Given the description of an element on the screen output the (x, y) to click on. 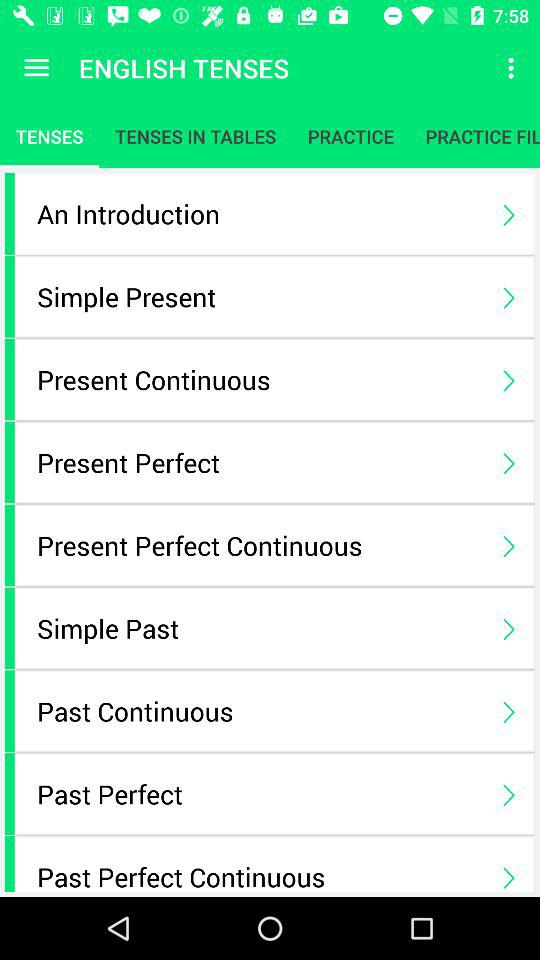
choose icon to the right of the english tenses (513, 67)
